Given the description of an element on the screen output the (x, y) to click on. 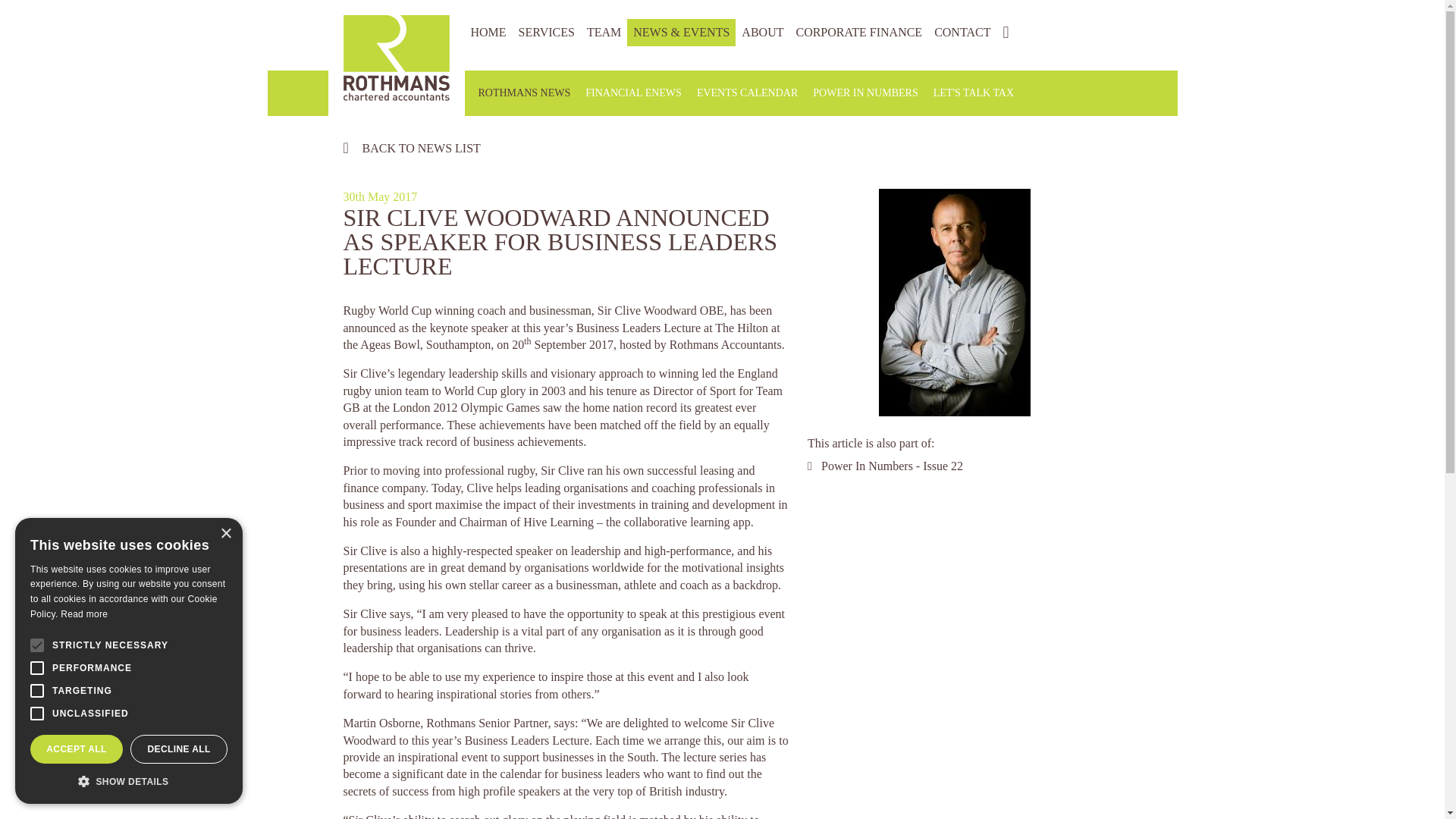
LET'S TALK TAX (973, 92)
POWER IN NUMBERS (864, 92)
BACK TO NEWS LIST (713, 147)
See what else is in this issue (891, 465)
CORPORATE FINANCE (858, 31)
CONTACT (961, 31)
ABOUT (762, 31)
ROTHMANS NEWS (523, 92)
Power In Numbers - Issue 22 (891, 465)
SERVICES (546, 31)
